Given the description of an element on the screen output the (x, y) to click on. 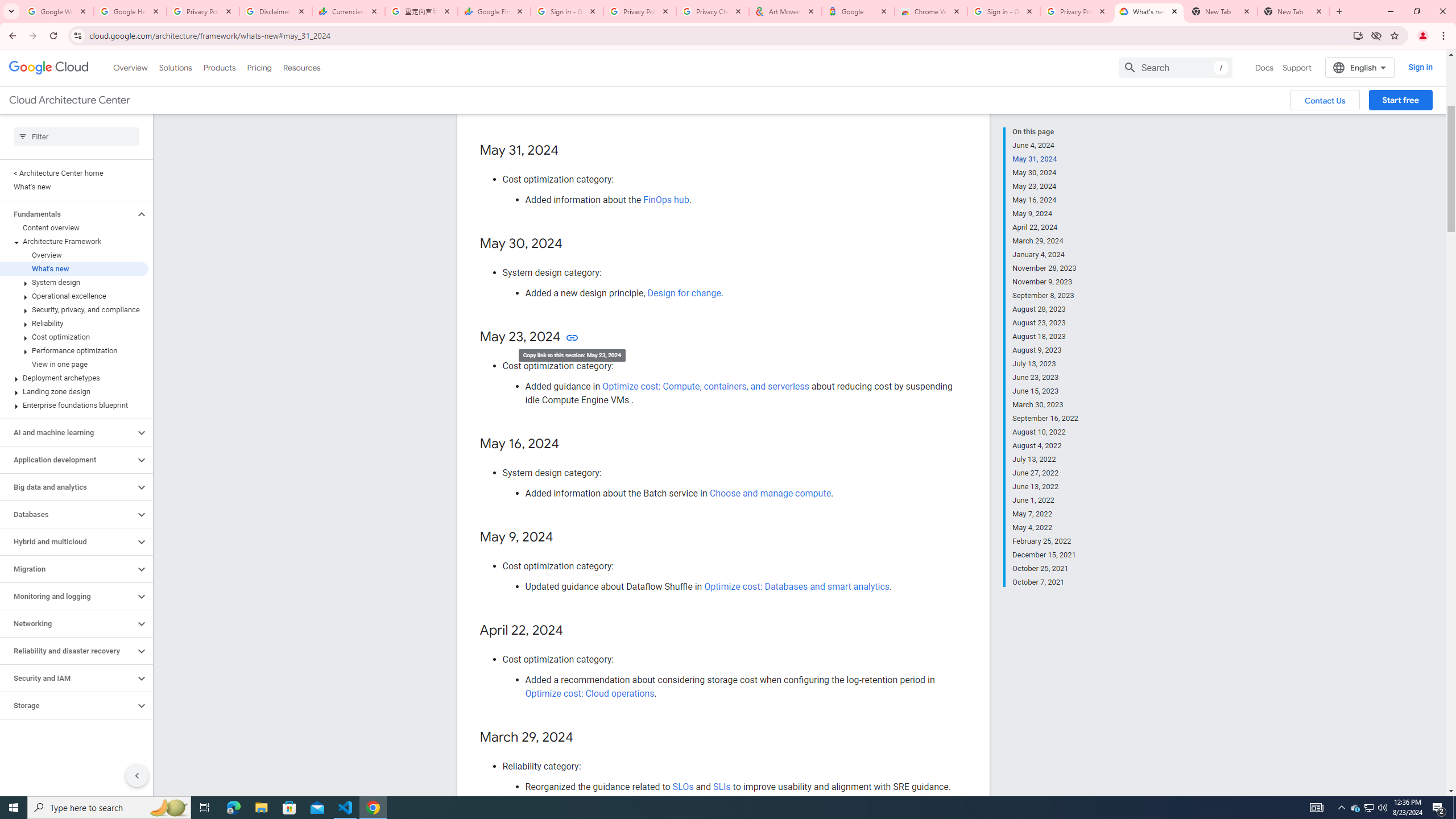
August 10, 2022 (1044, 431)
May 7, 2022 (1044, 513)
April 22, 2024 (1044, 227)
Install Google Cloud (1358, 35)
Copy link to this section: May 9, 2024 (564, 537)
Hide side navigation (136, 775)
Solutions (175, 67)
Big data and analytics (67, 486)
